Given the description of an element on the screen output the (x, y) to click on. 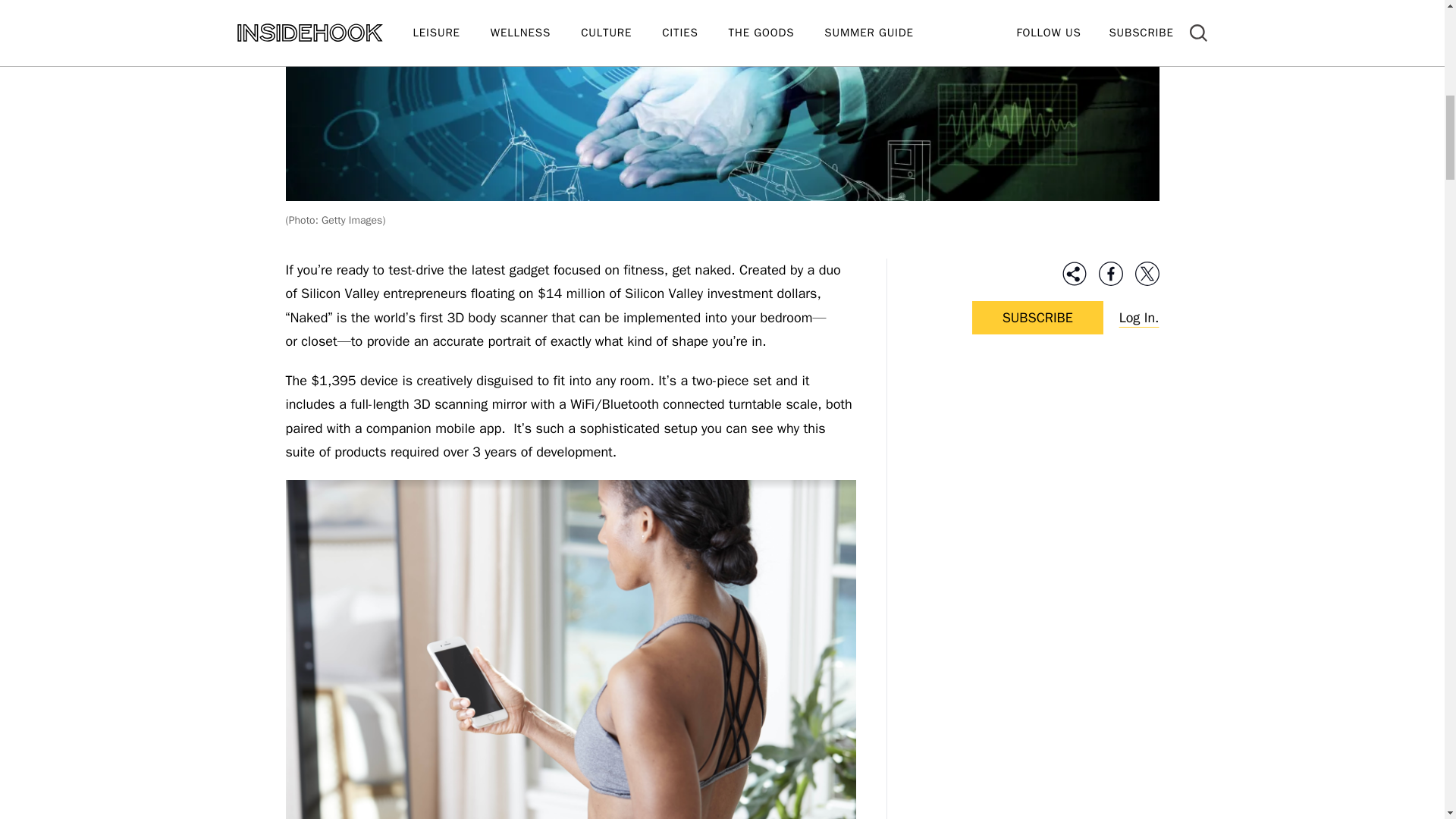
3rd party ad content (1037, 466)
